Given the description of an element on the screen output the (x, y) to click on. 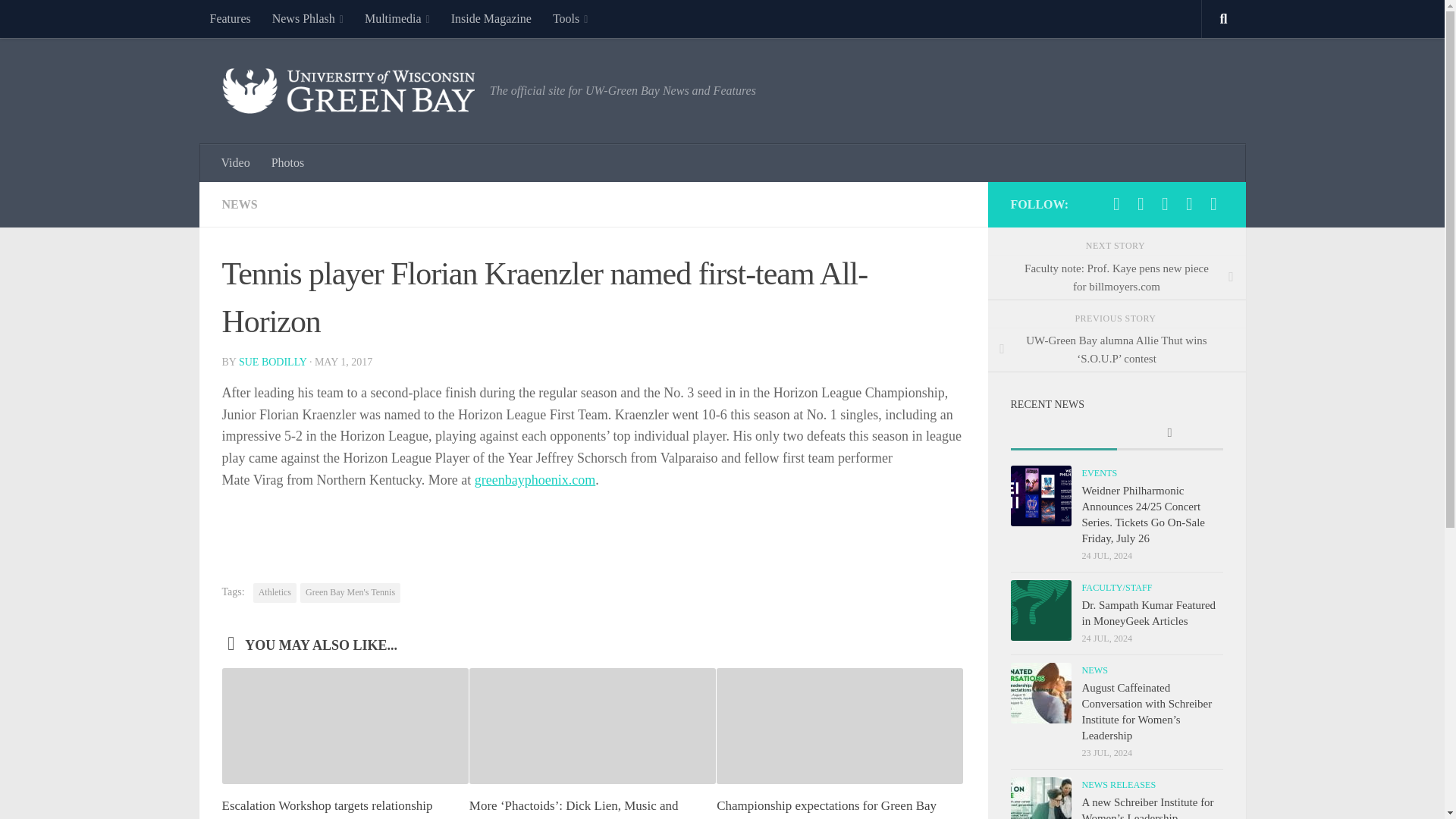
Inside Magazine (491, 18)
Escalation Workshop targets relationship abuse (326, 808)
Email (1213, 203)
NEWS (239, 204)
YouTube (1188, 203)
News Phlash (307, 18)
Photos (287, 162)
Features (229, 18)
Skip to content (59, 20)
Tools (569, 18)
Posts by Sue Bodilly (271, 361)
SUE BODILLY (271, 361)
Twitter (1140, 203)
Flickr (1164, 203)
Facebook (1115, 203)
